Given the description of an element on the screen output the (x, y) to click on. 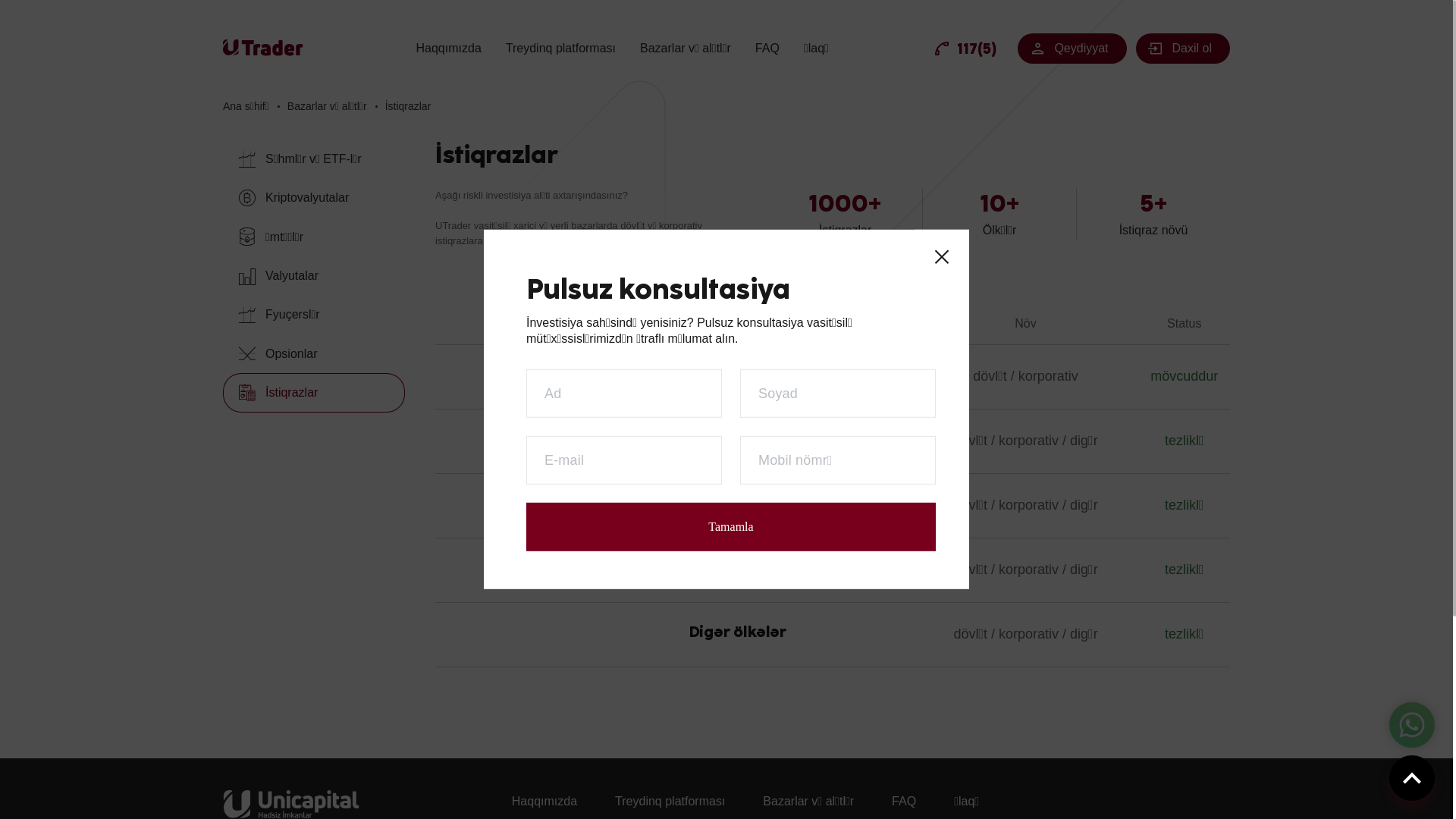
FAQ Element type: text (903, 800)
Valyutalar Element type: text (313, 275)
FAQ Element type: text (767, 47)
Opsionlar Element type: text (313, 353)
Qeydiyyat Element type: text (1071, 48)
Tamamla Element type: text (730, 526)
Daxil ol Element type: text (1182, 48)
Kriptovalyutalar Element type: text (313, 197)
117(5) Element type: text (964, 48)
